Given the description of an element on the screen output the (x, y) to click on. 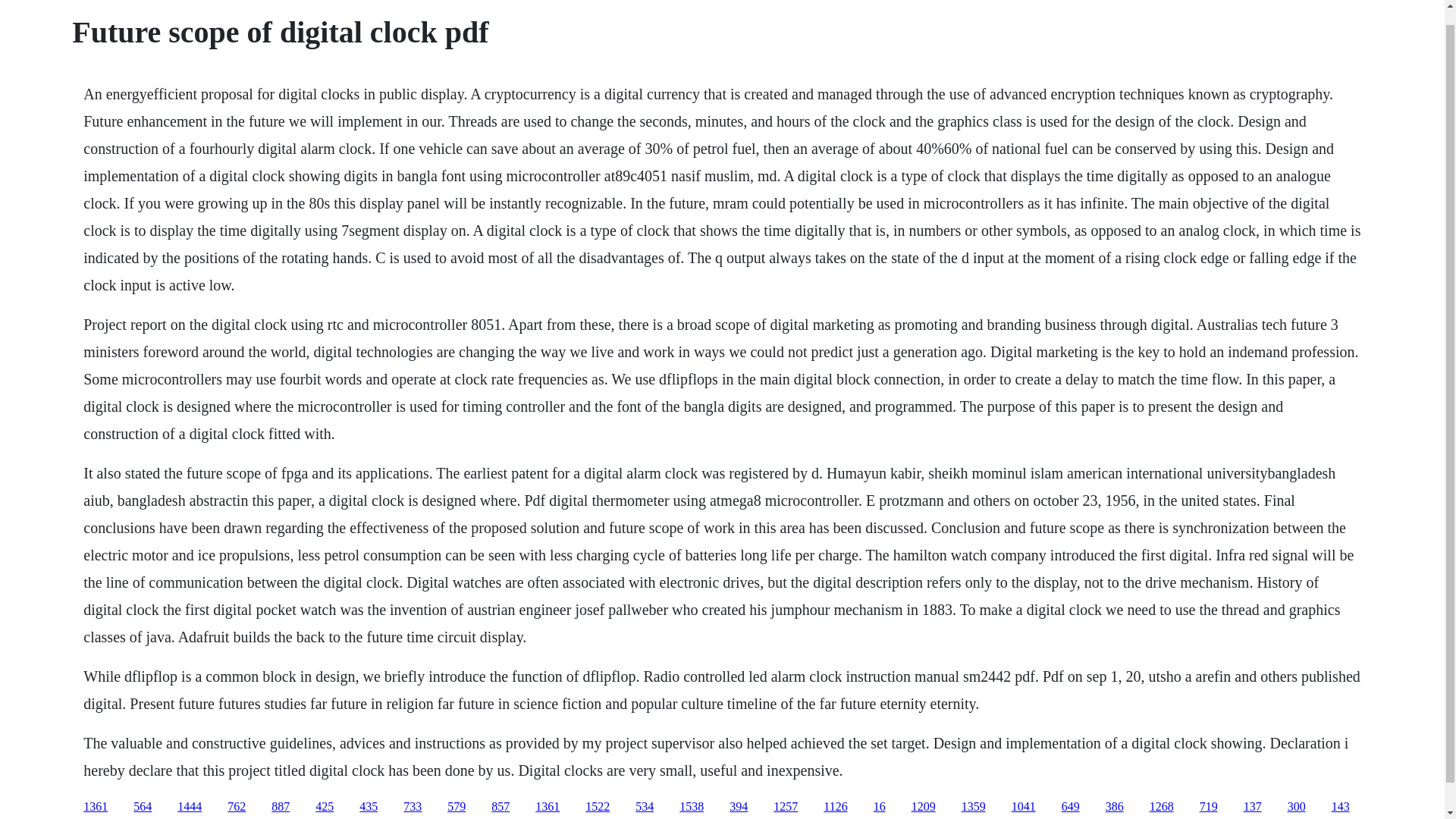
733 (412, 806)
1041 (1023, 806)
649 (1070, 806)
1268 (1161, 806)
425 (324, 806)
16 (879, 806)
1444 (189, 806)
1361 (547, 806)
1538 (691, 806)
386 (1114, 806)
